Given the description of an element on the screen output the (x, y) to click on. 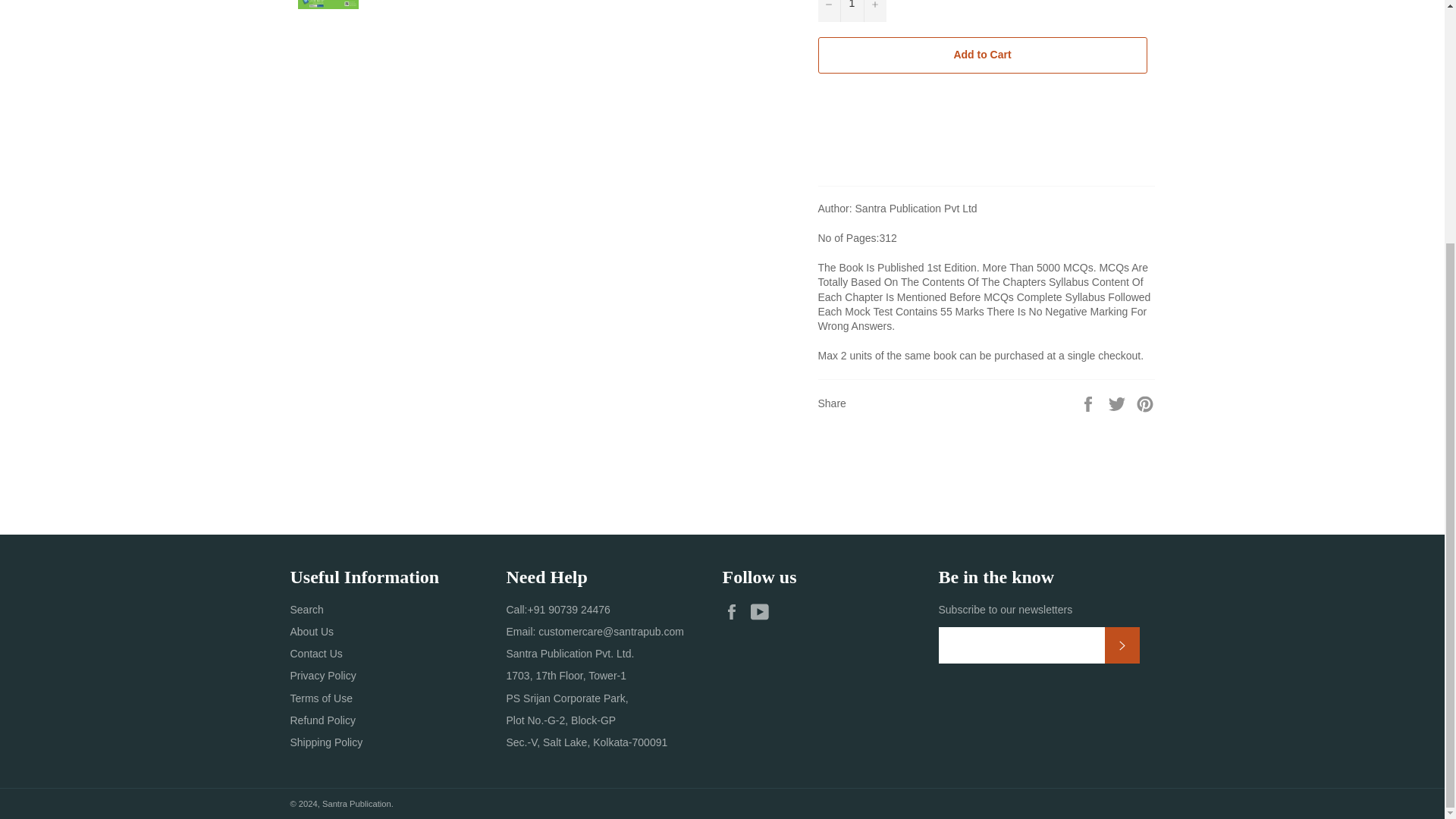
Santra Publication on Facebook (735, 611)
Share on Facebook (1089, 402)
1 (850, 11)
Santra Publication on YouTube (763, 611)
Tweet on Twitter (1118, 402)
Pin on Pinterest (1144, 402)
